Given the description of an element on the screen output the (x, y) to click on. 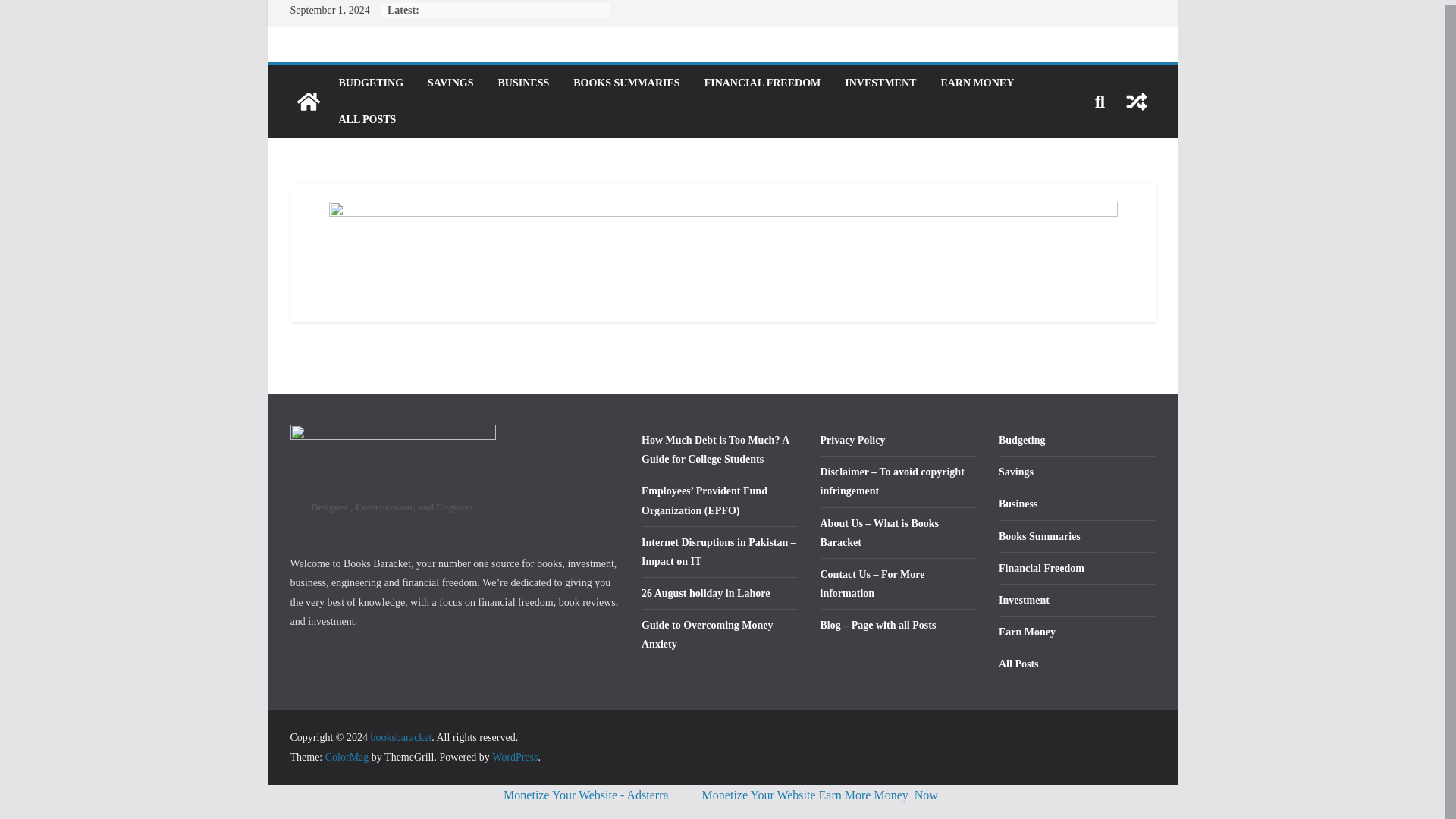
Budgeting (1021, 439)
booksbaracket (399, 737)
SAVINGS (450, 83)
booksbaracket (307, 101)
FINANCIAL FREEDOM (762, 83)
BOOKS SUMMARIES (626, 83)
ColorMag (346, 756)
How Much Debt is Too Much? A Guide for College Students (715, 449)
Business (1017, 503)
BUDGETING (370, 83)
